Given the description of an element on the screen output the (x, y) to click on. 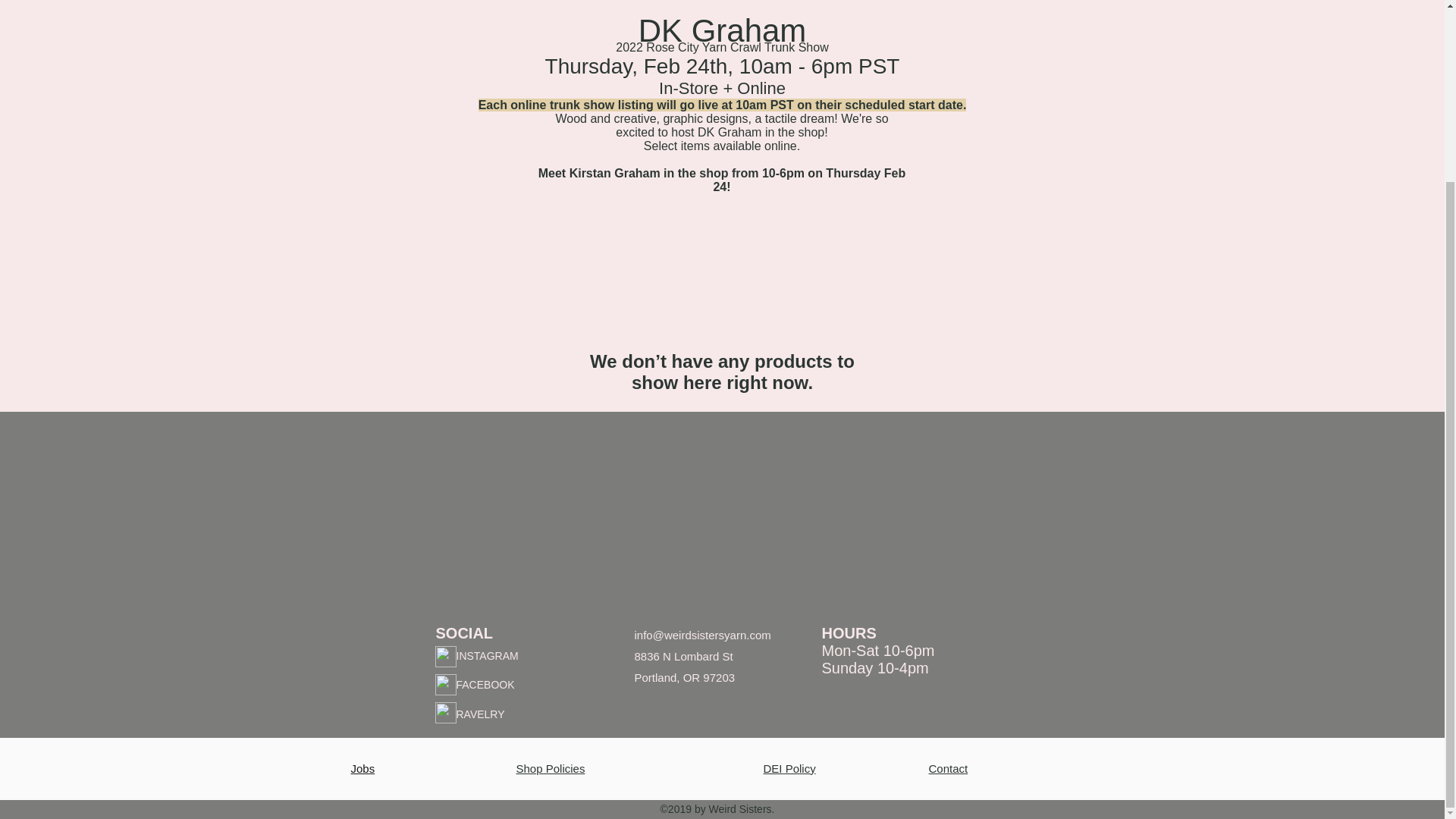
DEI Policy (788, 768)
Jobs (362, 768)
Shop Policies (550, 768)
Contact (948, 768)
